Given the description of an element on the screen output the (x, y) to click on. 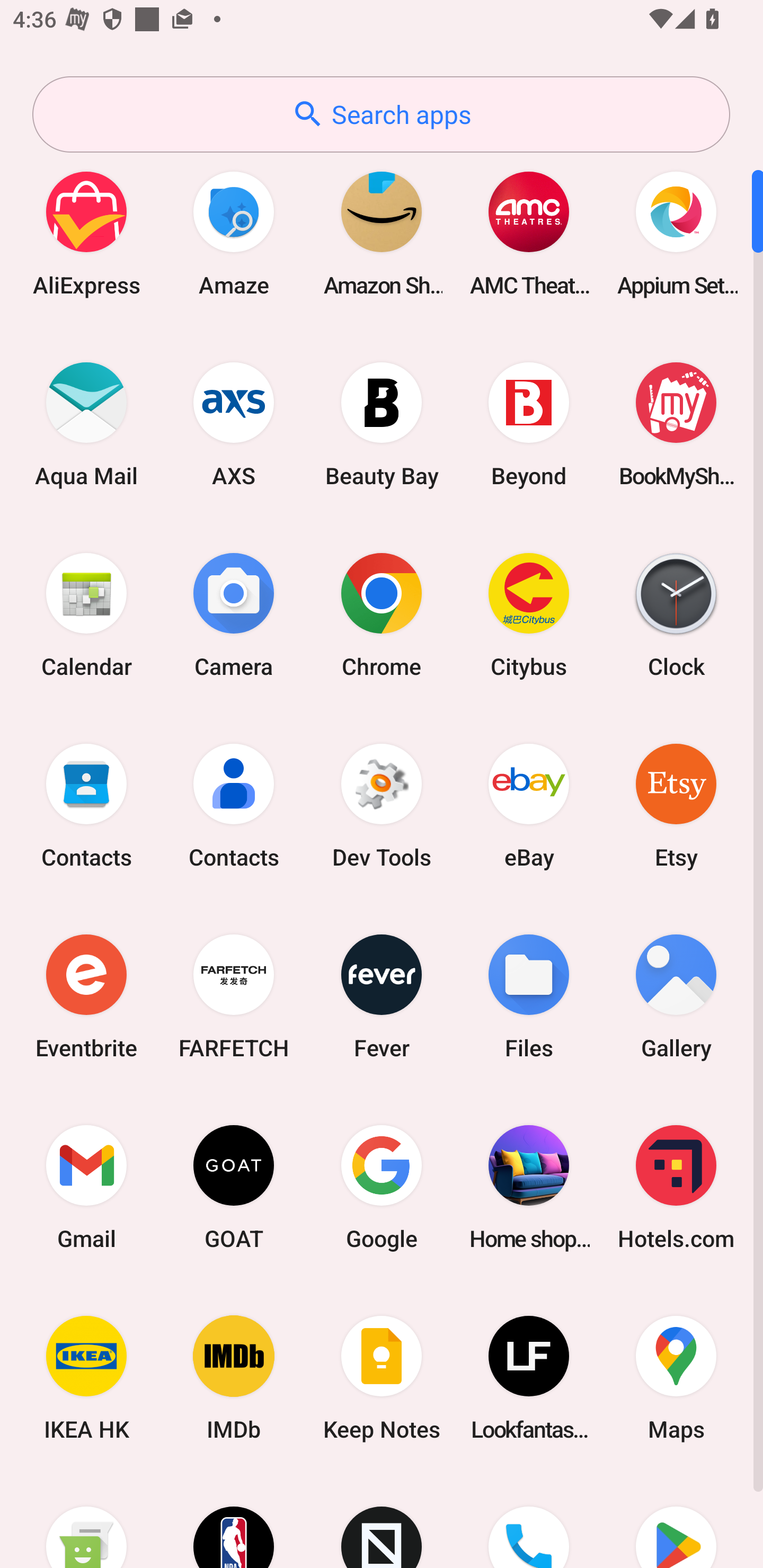
  Search apps (381, 114)
AliExpress (86, 233)
Amaze (233, 233)
Amazon Shopping (381, 233)
AMC Theatres (528, 233)
Appium Settings (676, 233)
Aqua Mail (86, 424)
AXS (233, 424)
Beauty Bay (381, 424)
Beyond (528, 424)
BookMyShow (676, 424)
Calendar (86, 614)
Camera (233, 614)
Chrome (381, 614)
Citybus (528, 614)
Clock (676, 614)
Contacts (86, 805)
Contacts (233, 805)
Dev Tools (381, 805)
eBay (528, 805)
Etsy (676, 805)
Eventbrite (86, 996)
FARFETCH (233, 996)
Fever (381, 996)
Files (528, 996)
Gallery (676, 996)
Gmail (86, 1186)
GOAT (233, 1186)
Google (381, 1186)
Home shopping (528, 1186)
Hotels.com (676, 1186)
IKEA HK (86, 1377)
IMDb (233, 1377)
Keep Notes (381, 1377)
Lookfantastic (528, 1377)
Maps (676, 1377)
